Given the description of an element on the screen output the (x, y) to click on. 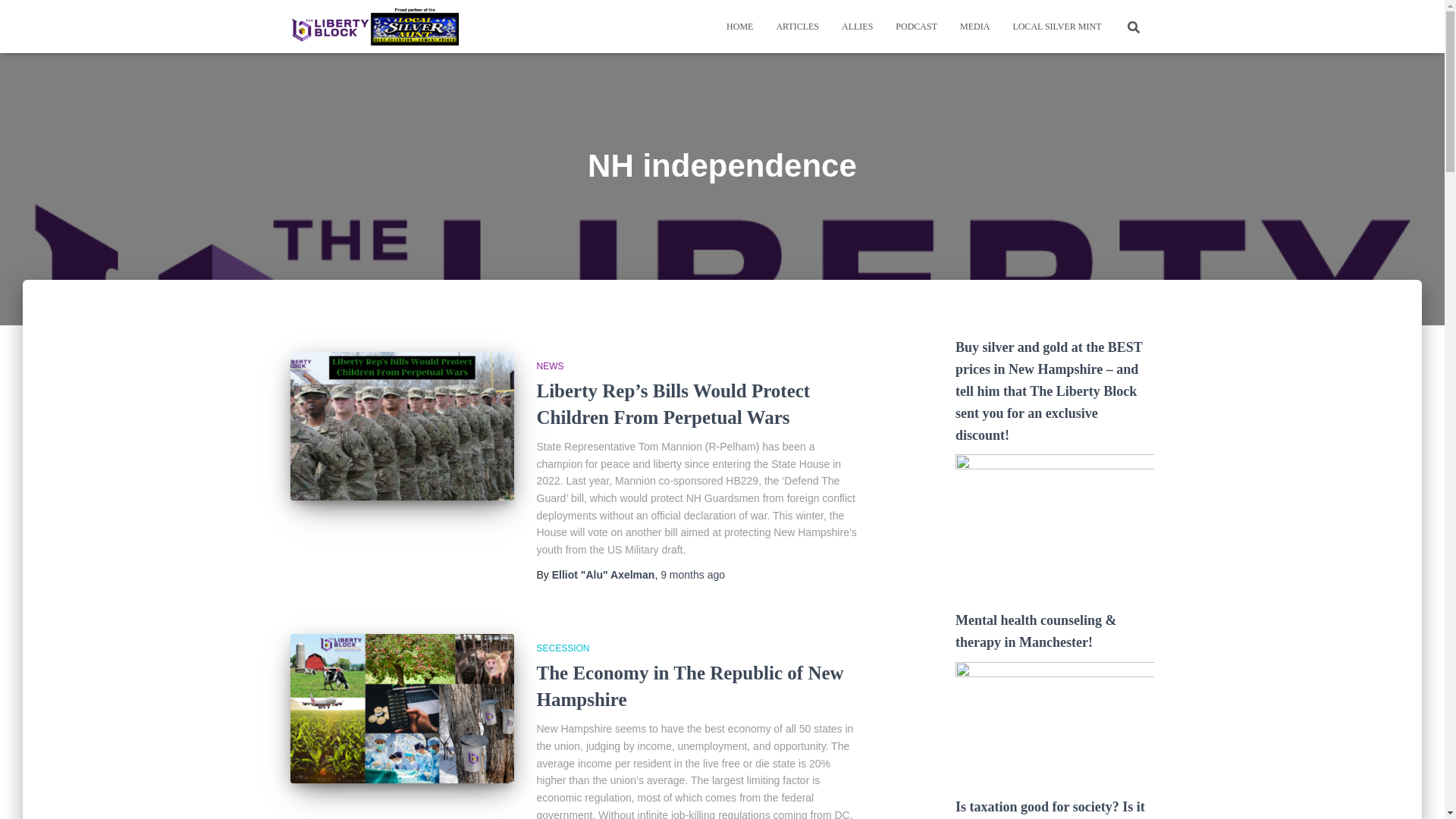
The Liberty Block (374, 26)
ARTICLES (796, 26)
NEWS (550, 366)
HOME (739, 26)
The Economy in The Republic of New Hampshire (401, 707)
Media (975, 26)
Elliot "Alu" Axelman (603, 574)
MEDIA (975, 26)
View all posts in Secession (563, 647)
Podcast (916, 26)
